Given the description of an element on the screen output the (x, y) to click on. 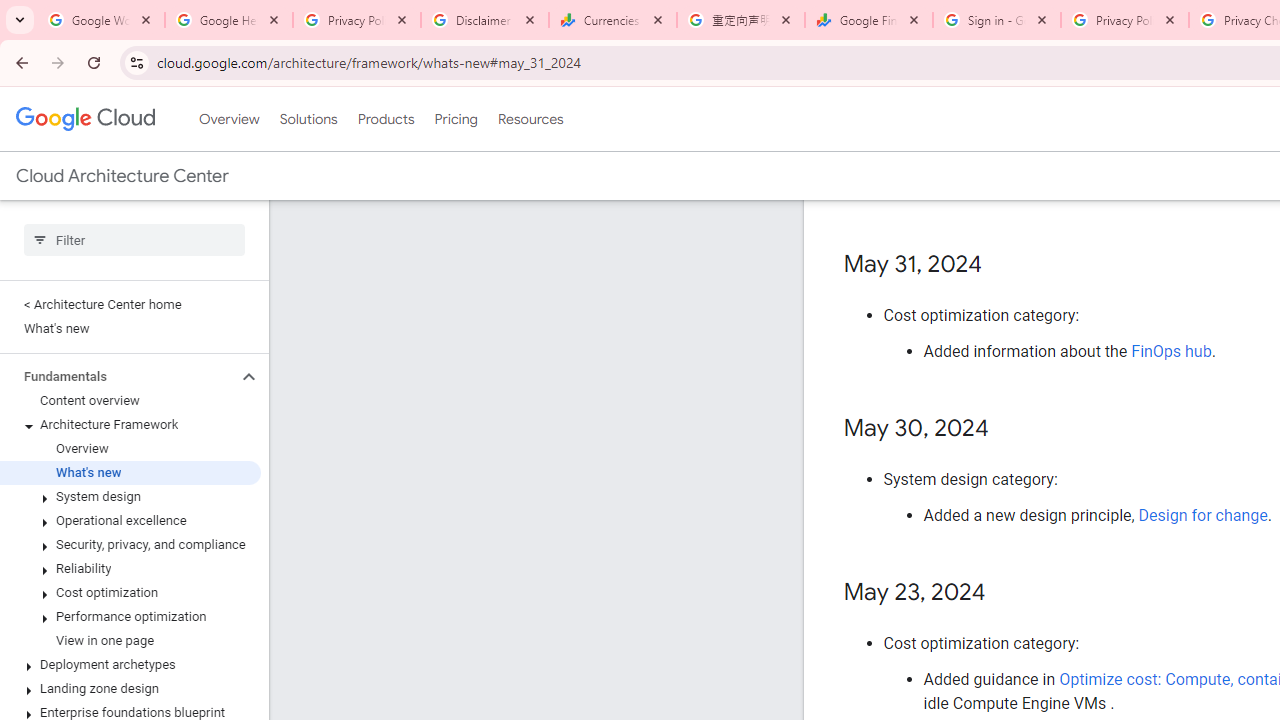
Architecture Framework (130, 425)
optimizing (1151, 163)
Overview (130, 448)
monitoring (1142, 127)
Performance optimization (130, 616)
Sign in - Google Accounts (997, 20)
Cloud Architecture Center (122, 175)
Copy link to this section: May 30, 2024 (1008, 429)
Content overview (130, 400)
Currencies - Google Finance (613, 20)
